Given the description of an element on the screen output the (x, y) to click on. 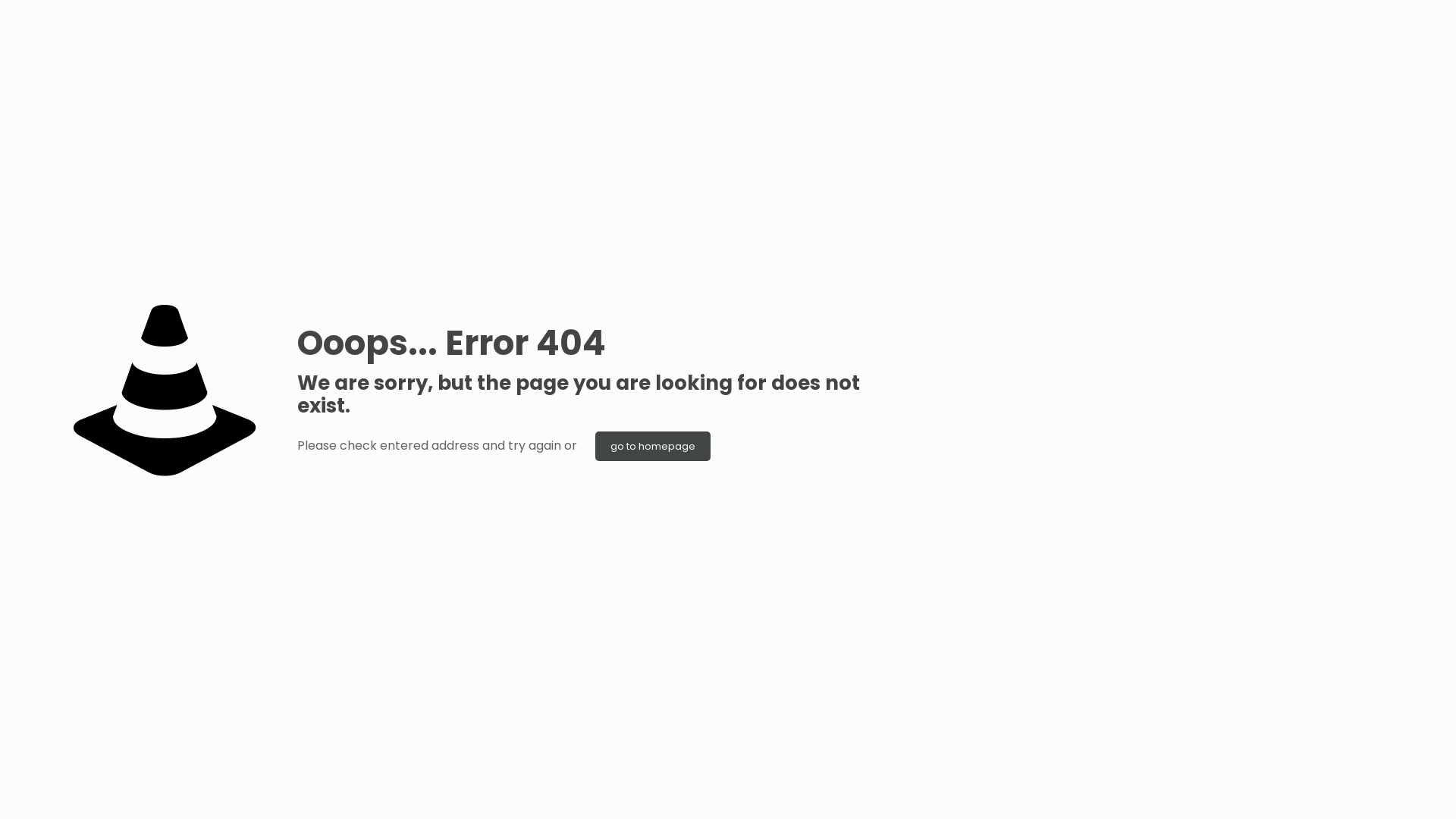
go to homepage Element type: text (652, 446)
